Given the description of an element on the screen output the (x, y) to click on. 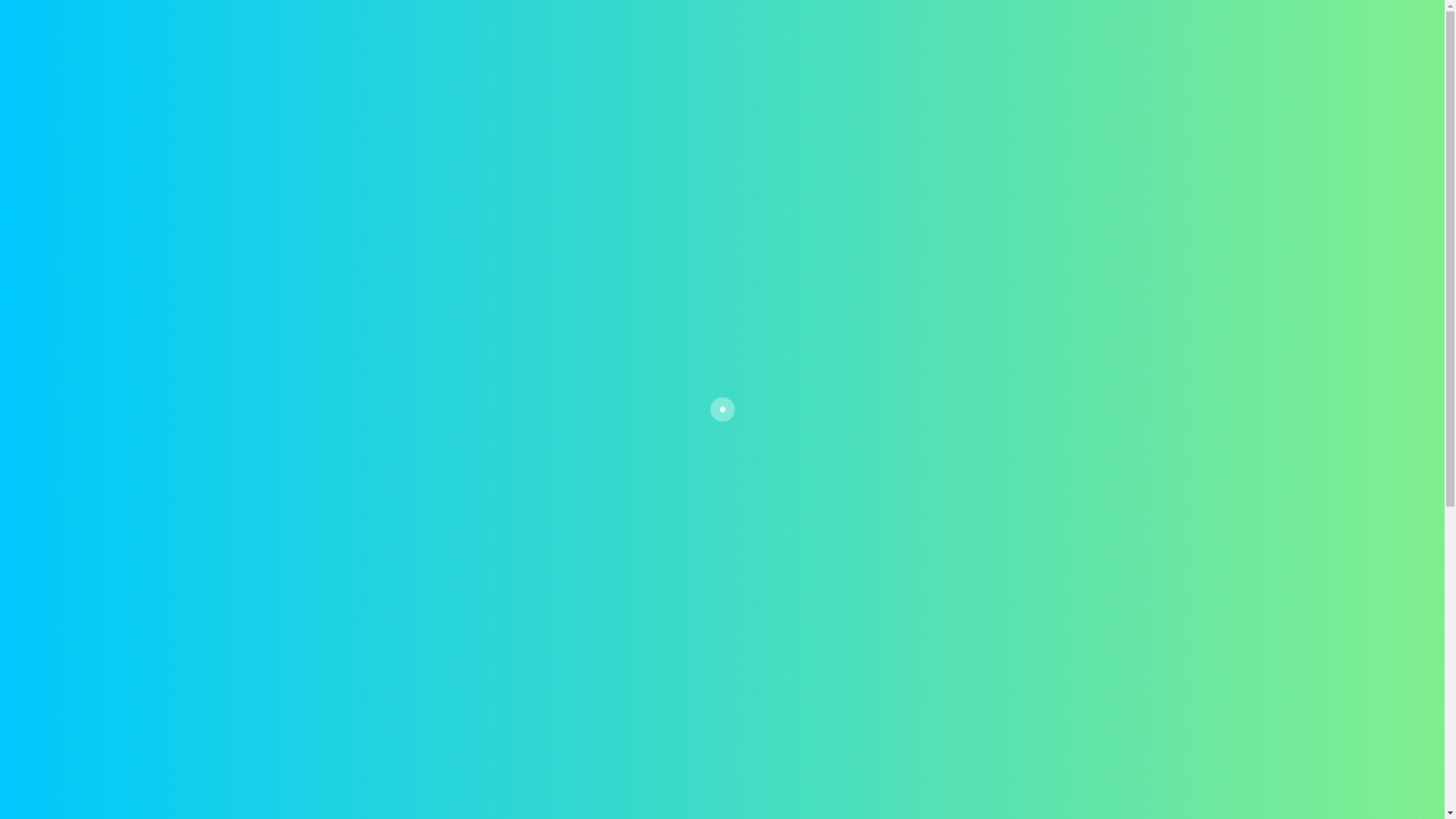
Home (587, 45)
Digital Marketing (1104, 45)
Integrations (870, 45)
Solutions (781, 46)
